Given the description of an element on the screen output the (x, y) to click on. 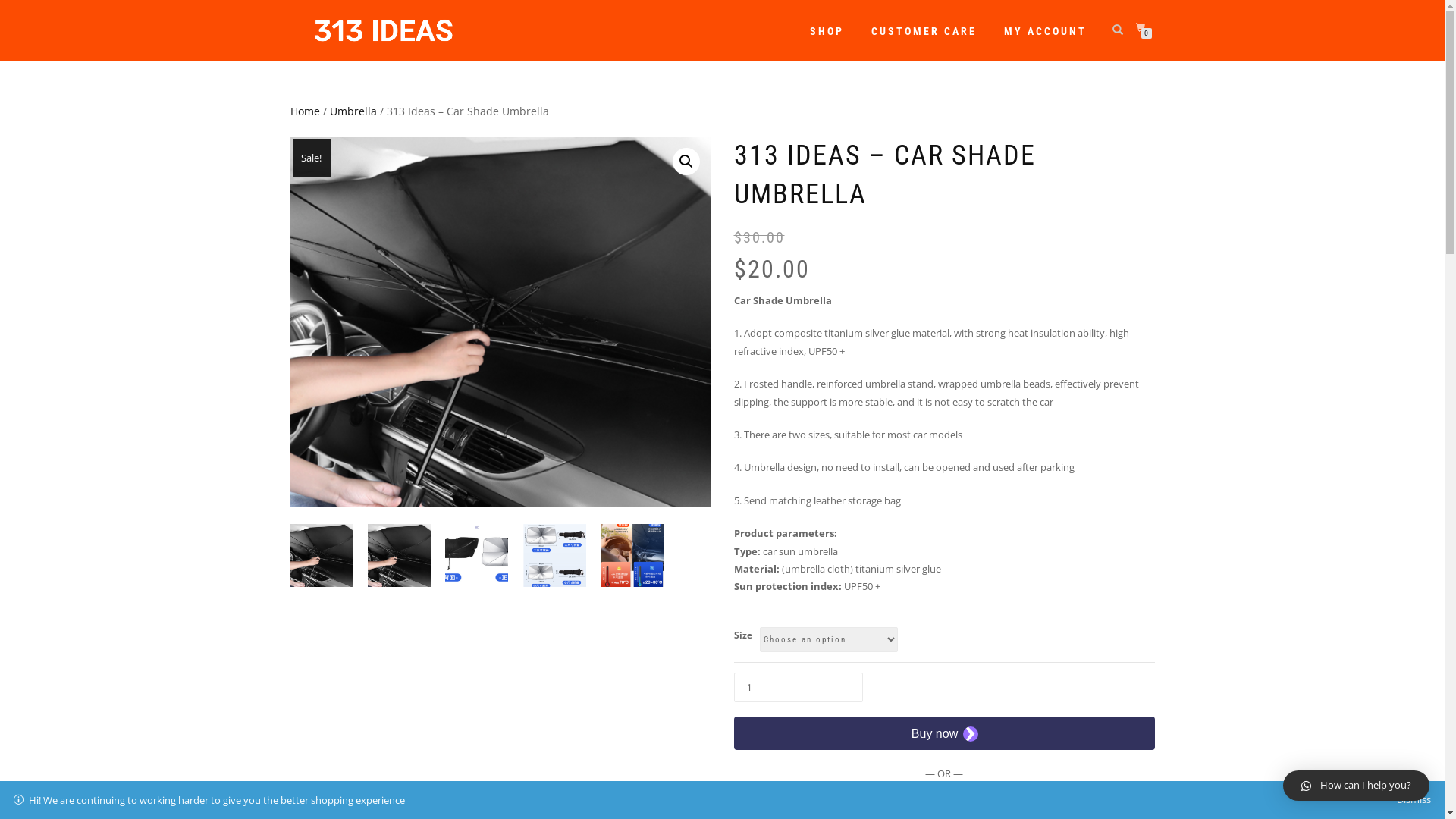
Qty Element type: hover (798, 687)
0 Element type: text (1143, 28)
Umbrella Element type: text (352, 110)
Dismiss Element type: text (1413, 799)
MY ACCOUNT Element type: text (1044, 30)
Secure payment button frame Element type: hover (944, 732)
CUSTOMER CARE Element type: text (923, 30)
Home Element type: text (304, 110)
SHOP Element type: text (825, 30)
How can I help you? Element type: text (1356, 785)
